Given the description of an element on the screen output the (x, y) to click on. 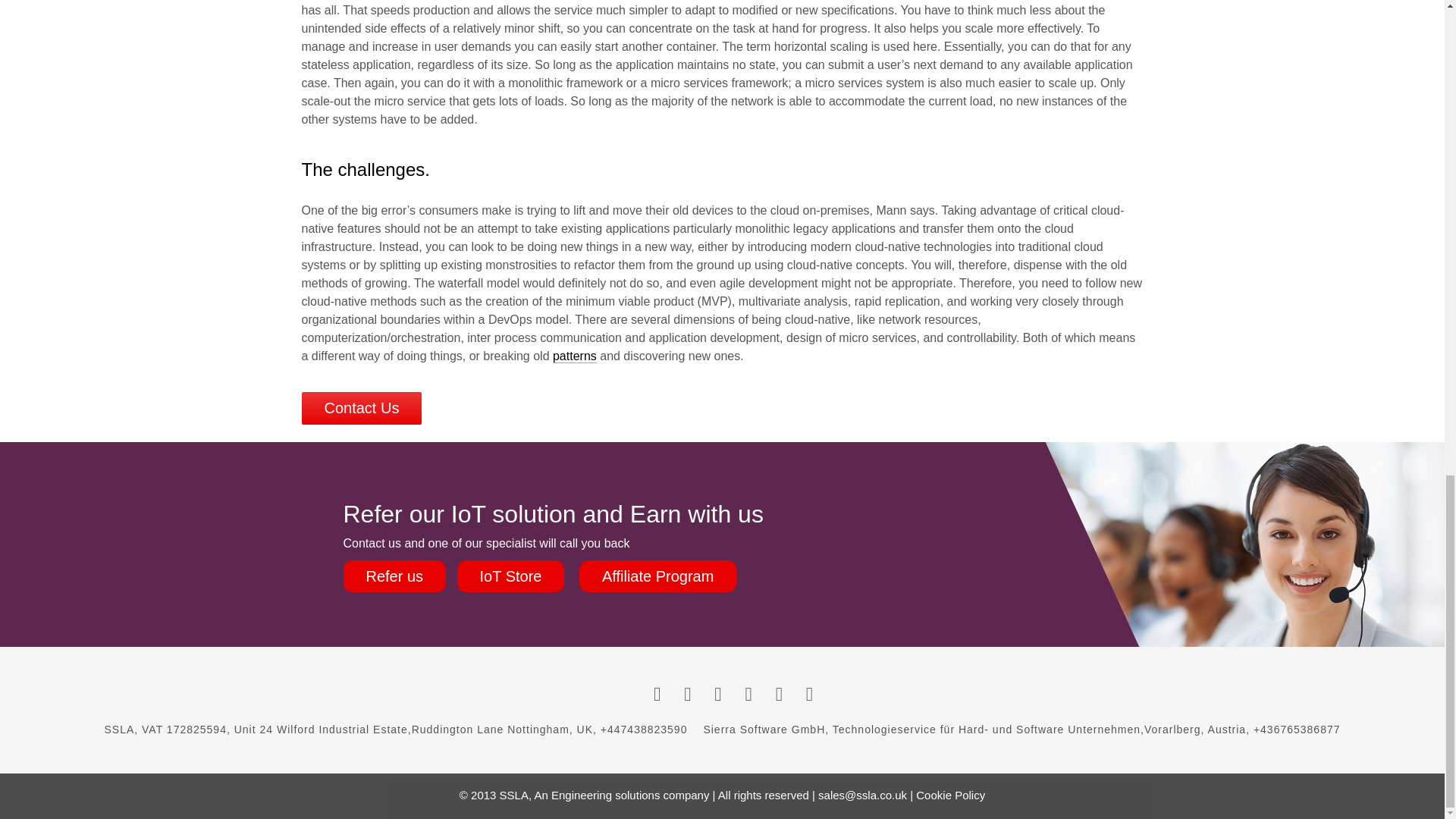
Contact Us (361, 408)
Cookie Policy (950, 794)
Refer us (393, 576)
Affiliate Program (657, 576)
IoT Store (510, 576)
patterns (574, 356)
